Given the description of an element on the screen output the (x, y) to click on. 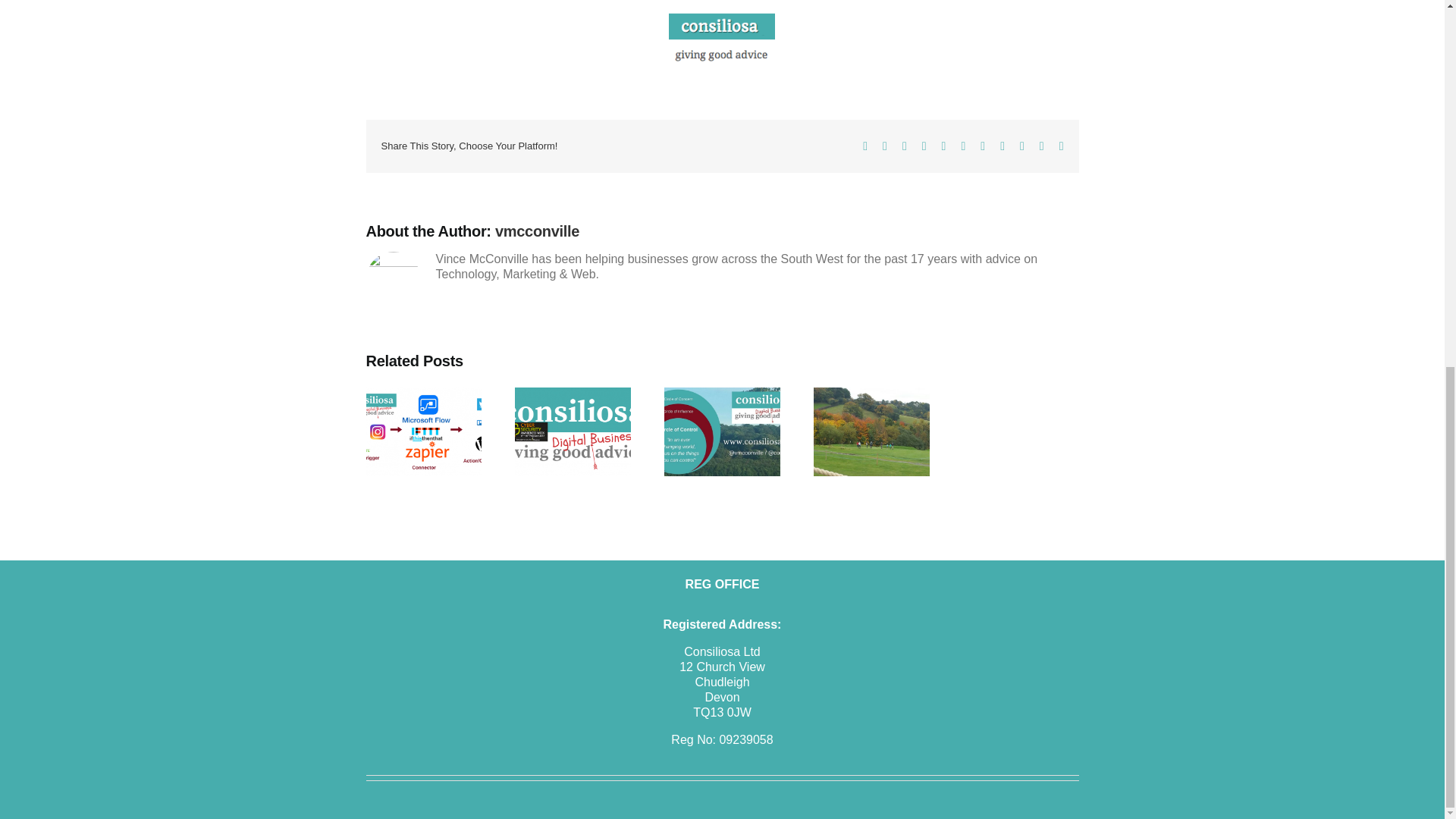
YouTube video player 1 (593, 4)
Posts by vmcconville (402, 63)
Posts by vmcconville (537, 230)
Business Technology (567, 63)
vmcconville (537, 230)
vmcconville (402, 63)
